Given the description of an element on the screen output the (x, y) to click on. 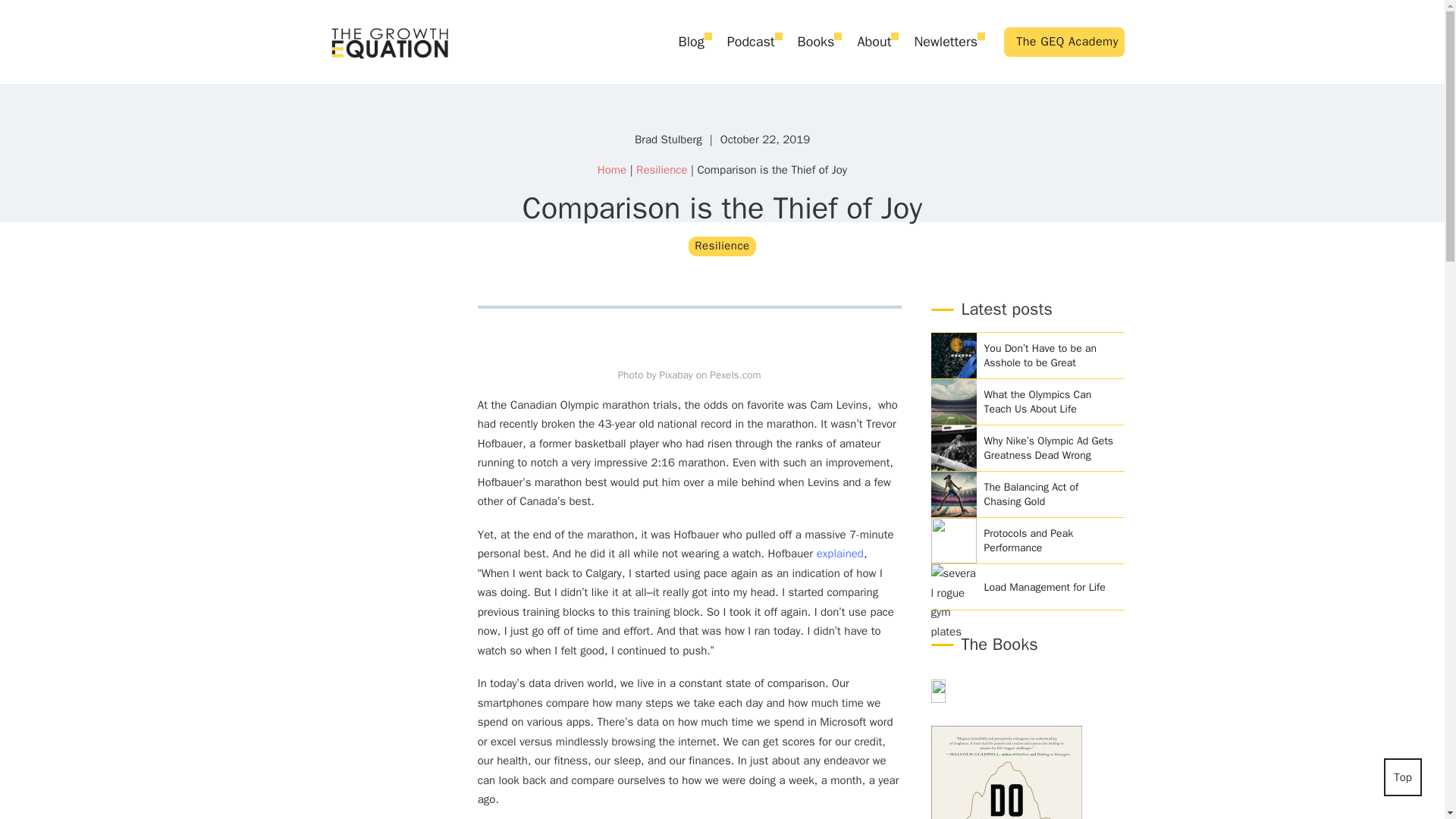
Load Management for Life (1050, 586)
About (874, 42)
The Balancing Act of Chasing Gold (1050, 493)
Pexels.com (735, 374)
Resilience (661, 169)
Podcast (750, 42)
Resilience (721, 246)
The GEQ Academy (1064, 41)
explained (839, 553)
Home (611, 169)
